Given the description of an element on the screen output the (x, y) to click on. 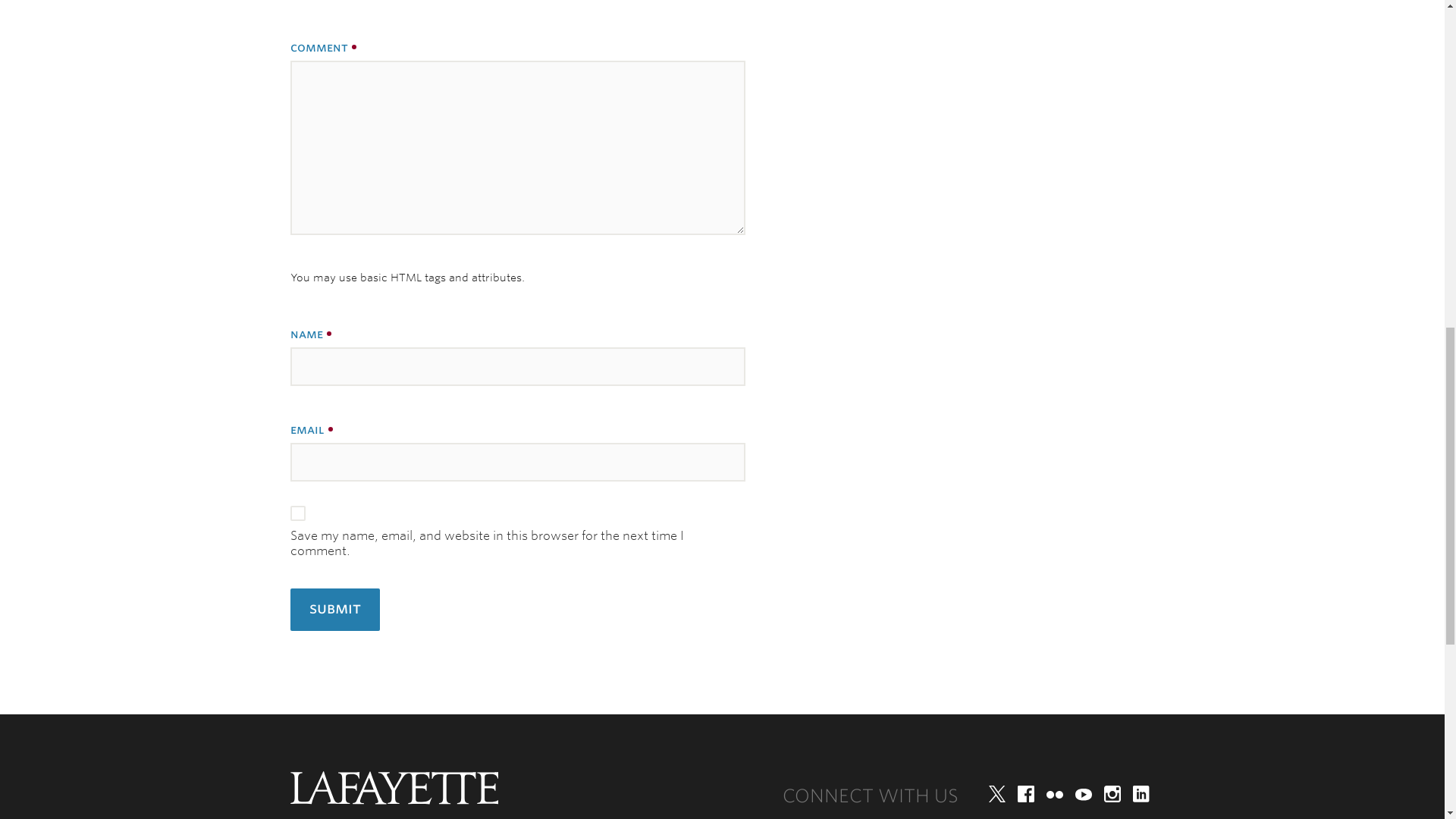
submit (333, 609)
